Given the description of an element on the screen output the (x, y) to click on. 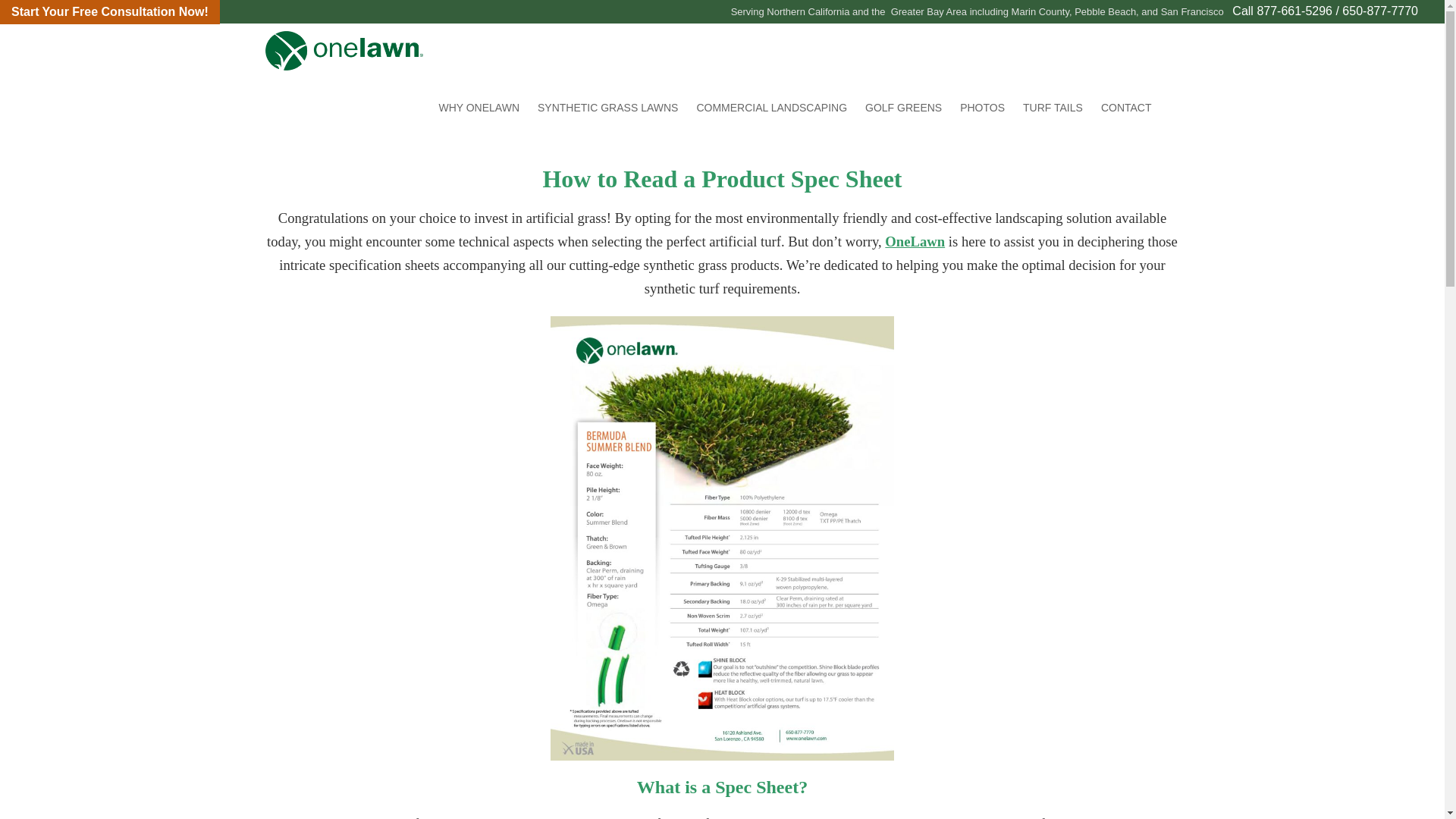
WHY ONELAWN (478, 107)
TURF TAILS (1052, 107)
Start Your Free Consultation Now! (109, 12)
PHOTOS (981, 107)
CONTACT (1126, 107)
COMMERCIAL LANDSCAPING (771, 107)
GOLF GREENS (903, 107)
650-877-7770 (1380, 10)
SYNTHETIC GRASS LAWNS (607, 107)
877-661-5296 (1294, 10)
One Lawn is all you need ! -The Bay Area's Turf Experts (499, 50)
One Lawn is all you need ! -The Bay Area's Turf Experts (499, 50)
